Given the description of an element on the screen output the (x, y) to click on. 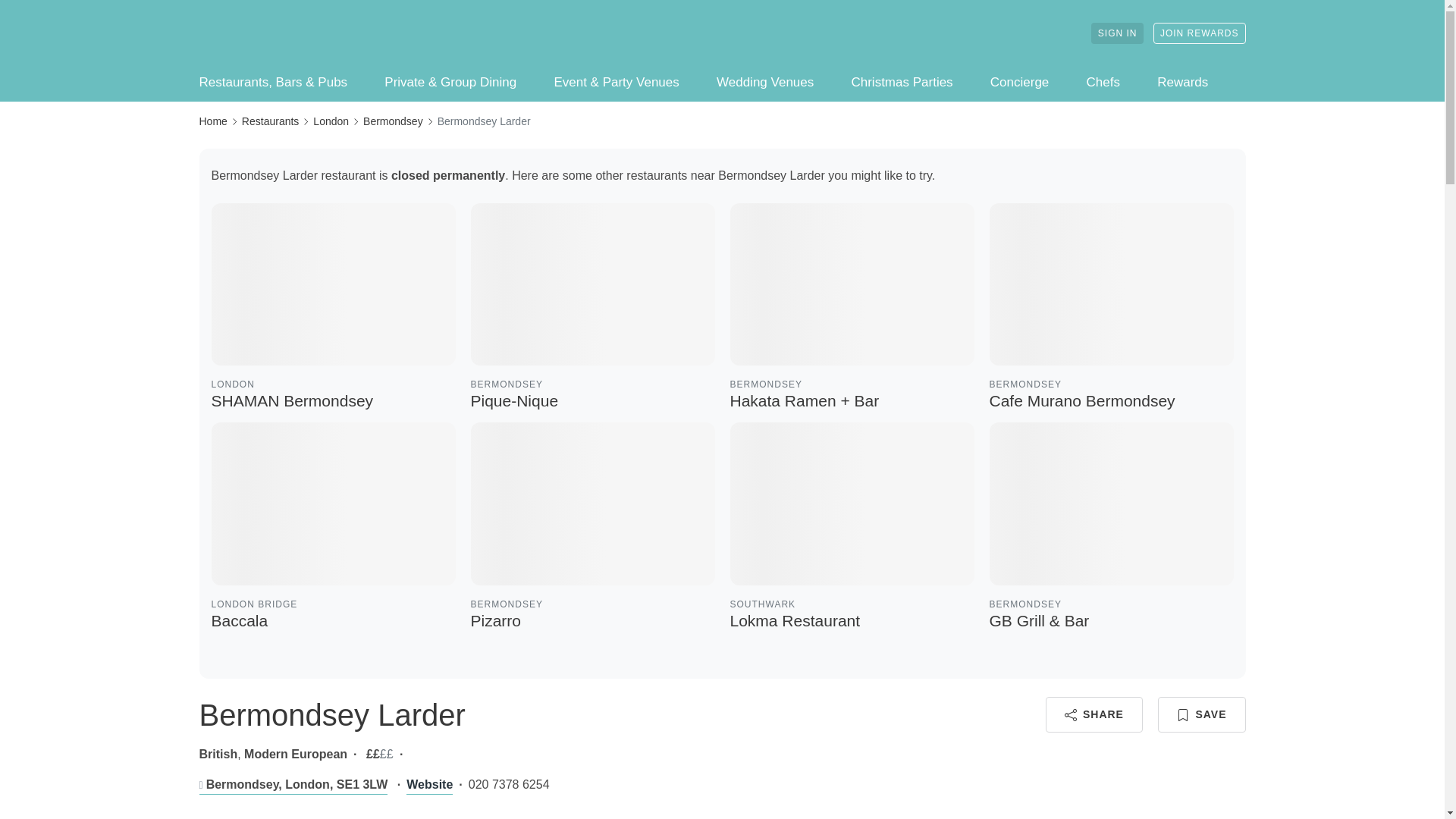
SquareMeal (1110, 313)
SIGN IN (278, 33)
JOIN REWARDS (333, 313)
